Given the description of an element on the screen output the (x, y) to click on. 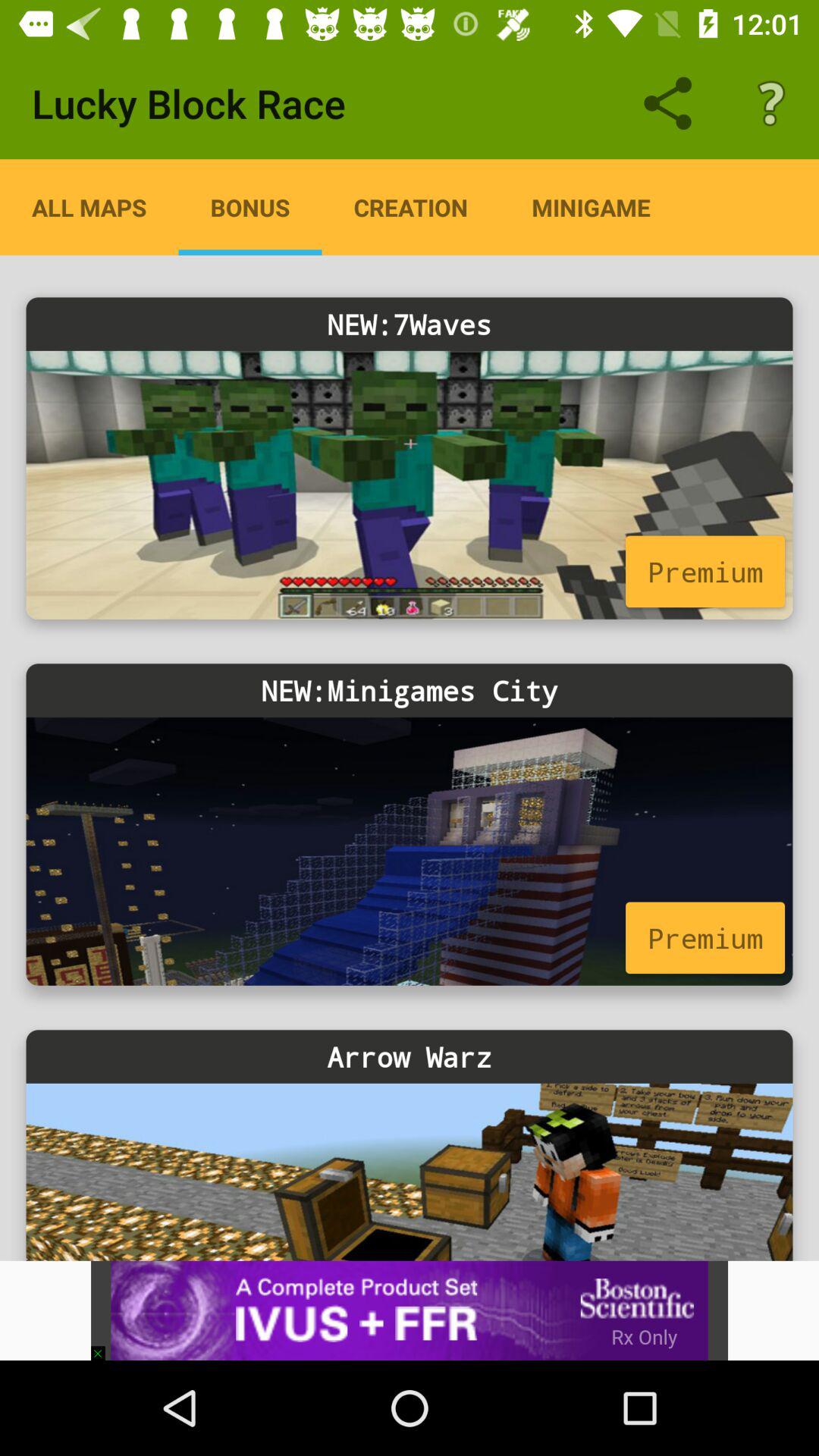
select game (409, 851)
